Given the description of an element on the screen output the (x, y) to click on. 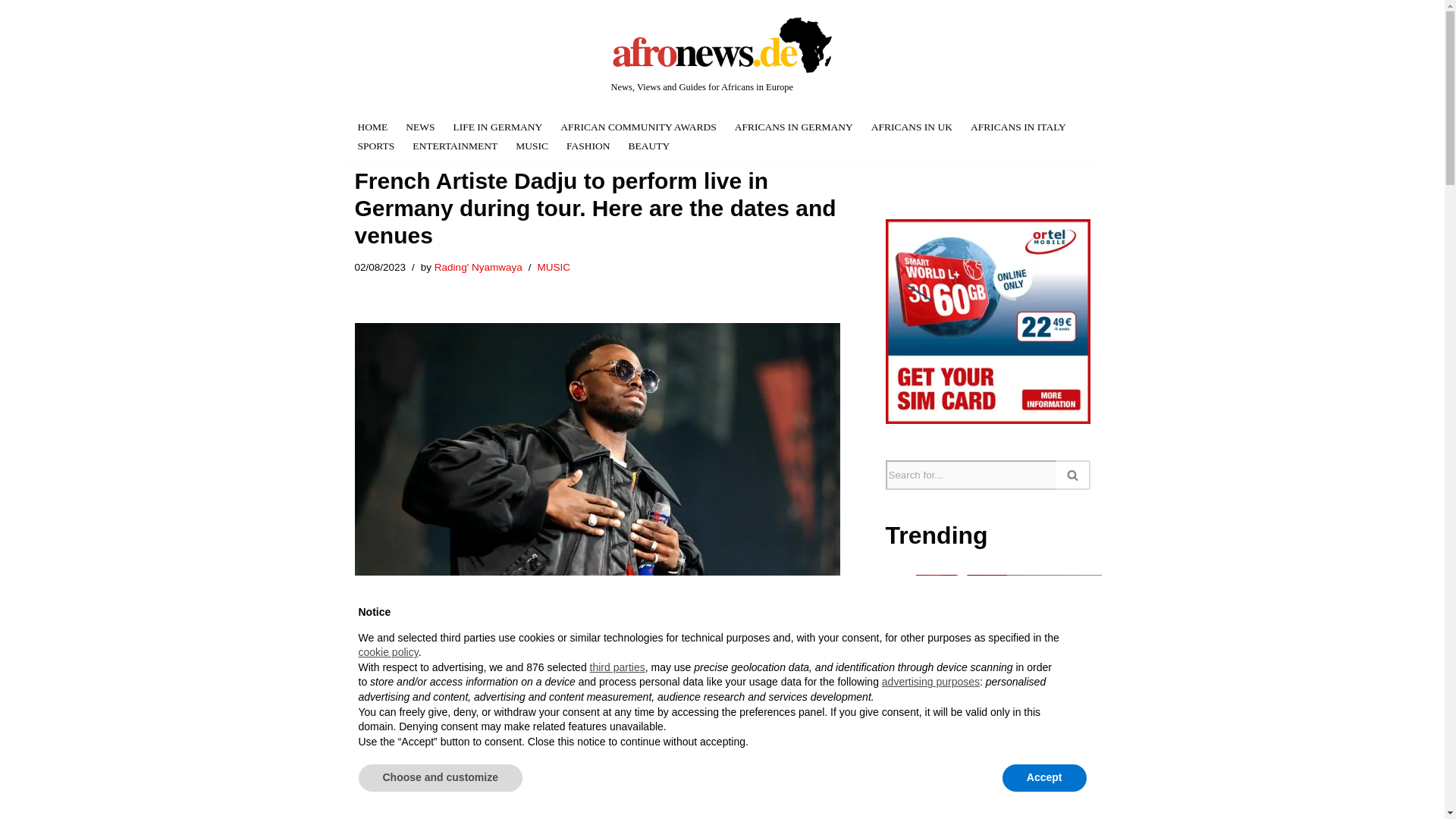
BEAUTY (648, 145)
Posts by Rading' Nyamwaya (477, 266)
HOME (373, 126)
SPORTS (376, 145)
AFRICANS IN GERMANY (794, 126)
News, Views and Guides for Africans in Europe (722, 55)
NEWS (419, 126)
AFRICANS IN UK (911, 126)
Rading' Nyamwaya (477, 266)
FASHION (588, 145)
MUSIC (531, 145)
LIFE IN GERMANY (497, 126)
Skip to content (353, 31)
MUSIC (553, 266)
AFRICANS IN ITALY (1018, 126)
